Given the description of an element on the screen output the (x, y) to click on. 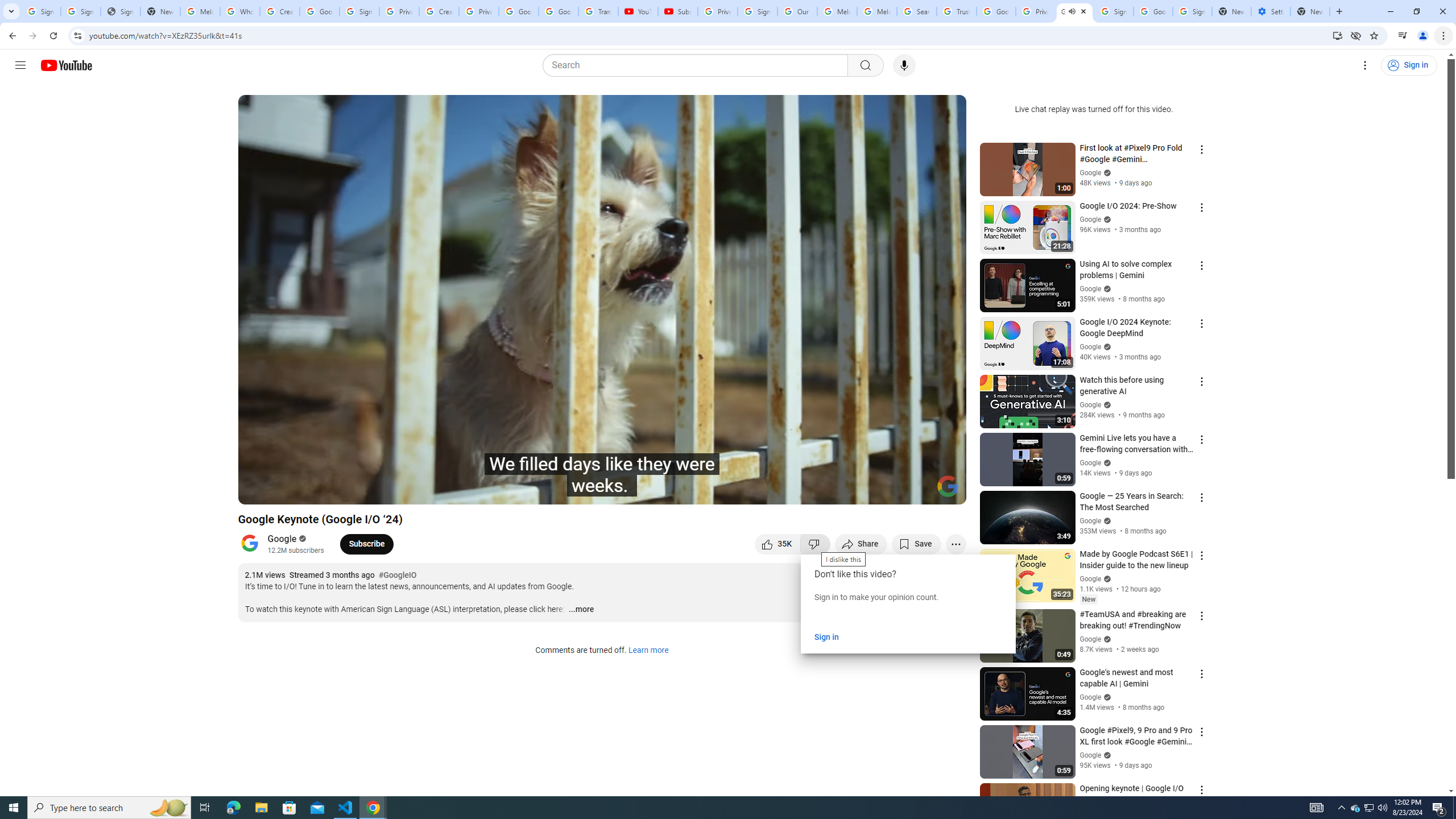
Subscriptions - YouTube (677, 11)
Sign in - Google Accounts (80, 11)
Autoplay is on (808, 490)
Guide (20, 65)
